Given the description of an element on the screen output the (x, y) to click on. 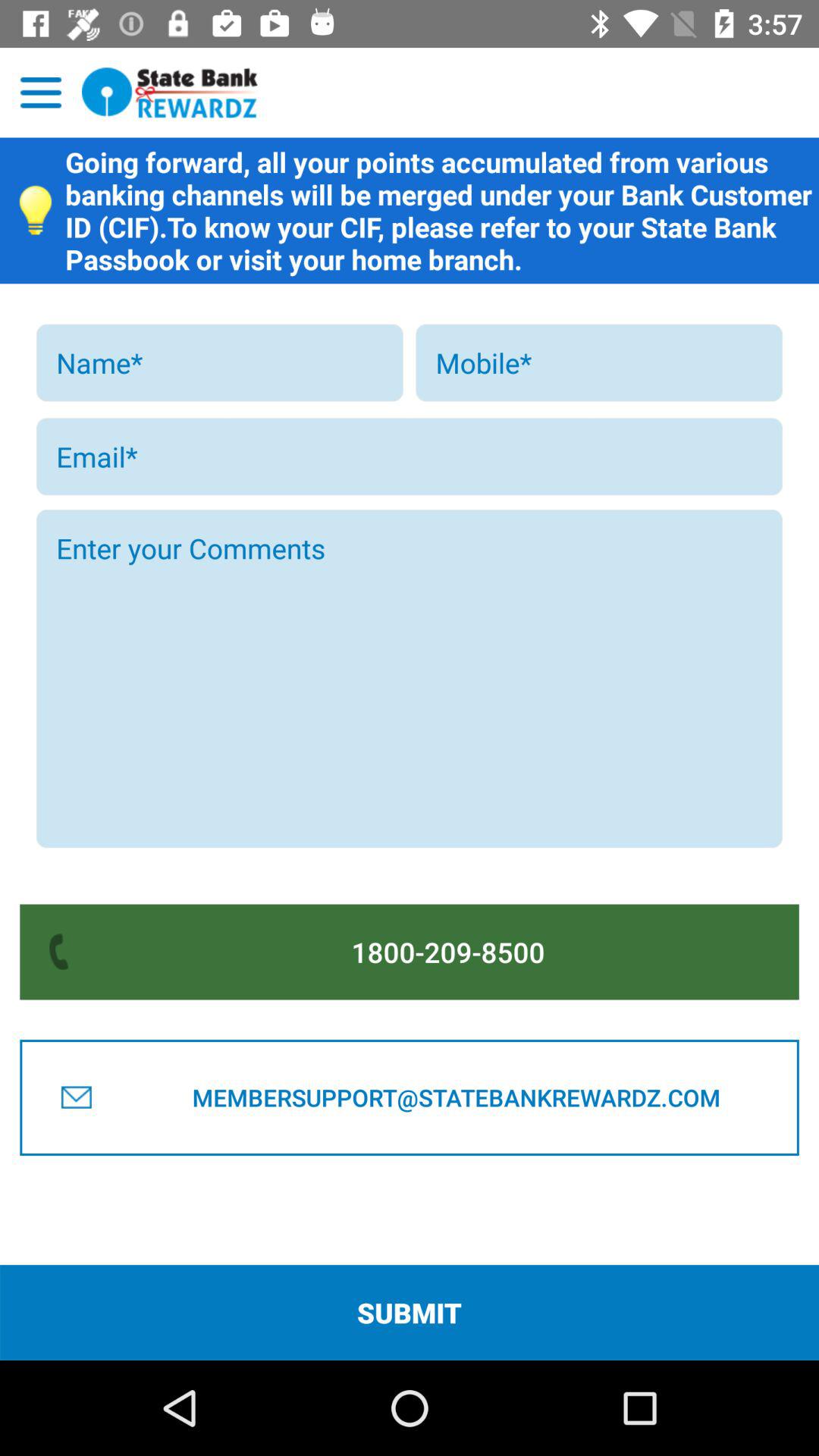
jump to submit icon (409, 1312)
